Given the description of an element on the screen output the (x, y) to click on. 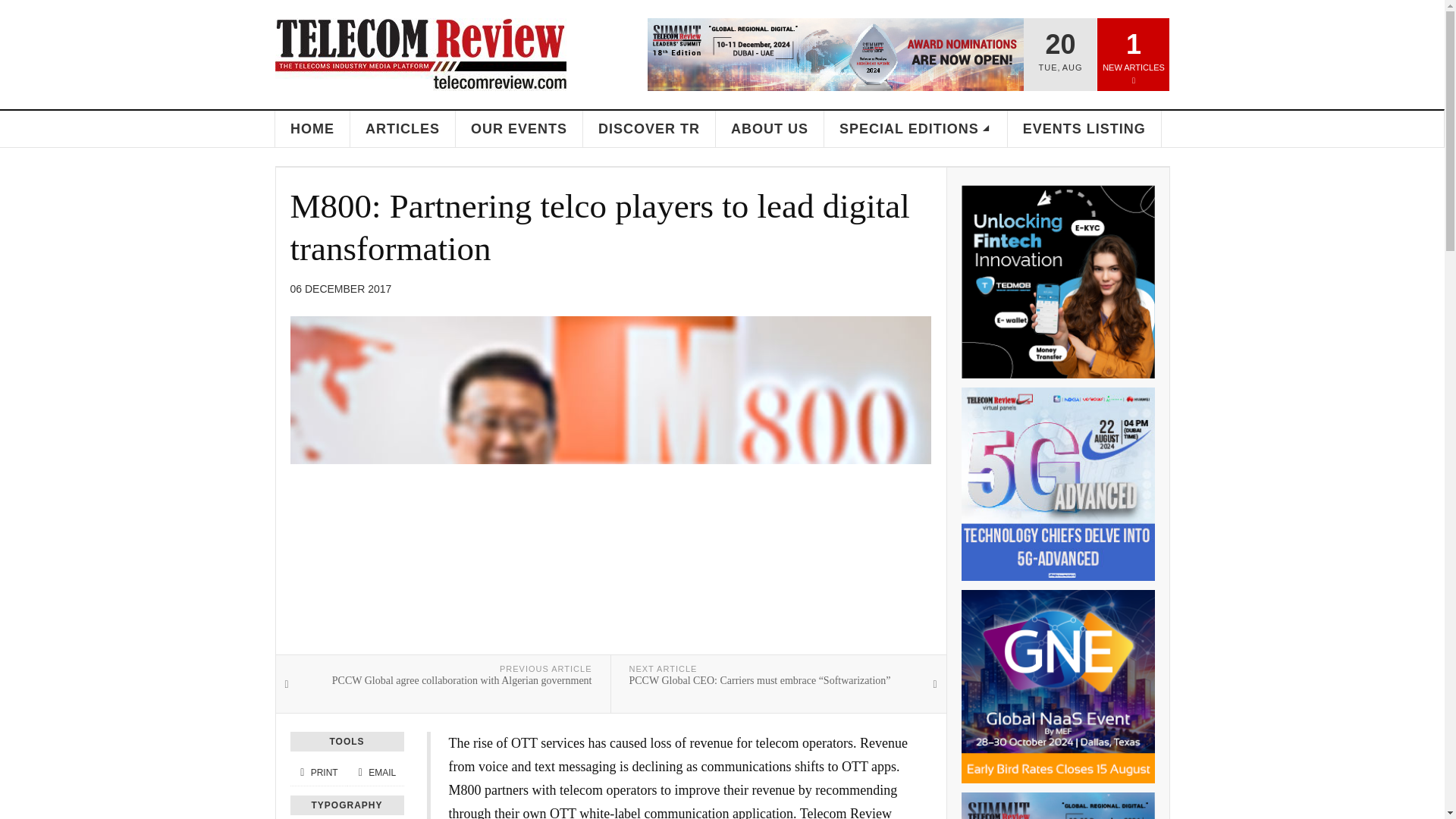
Print (318, 772)
HOME (312, 128)
Email (375, 772)
Telecom Review (420, 54)
2024 08 5G-Advanced WB (1057, 483)
2024 07 TRS Awards Top WB (835, 54)
2024 08 GNE WB (1057, 685)
2024 03 TRS WB (1057, 805)
2024 08 Tedmob WB (1057, 281)
